Given the description of an element on the screen output the (x, y) to click on. 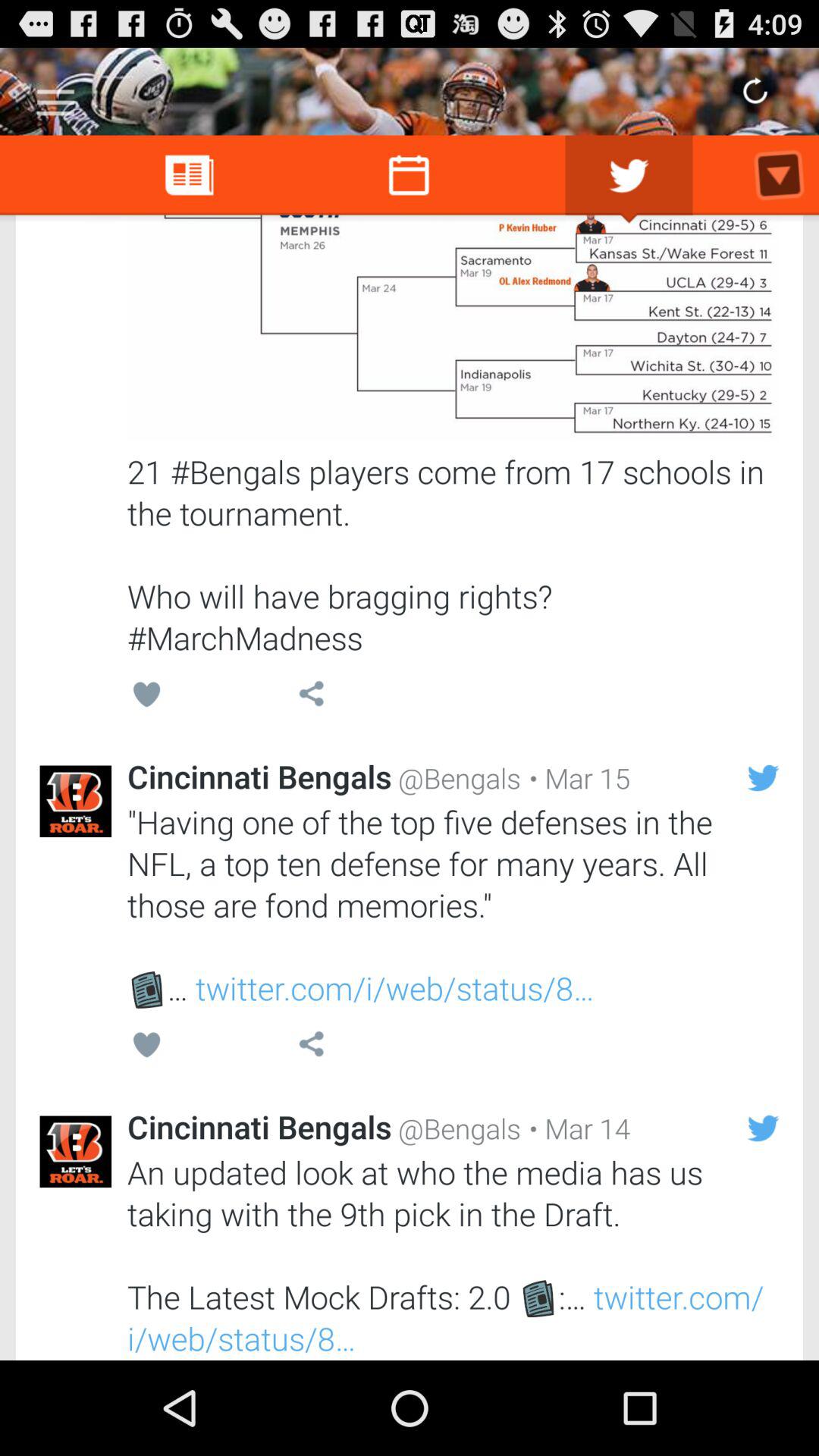
flip until the 21 bengals players icon (453, 554)
